Given the description of an element on the screen output the (x, y) to click on. 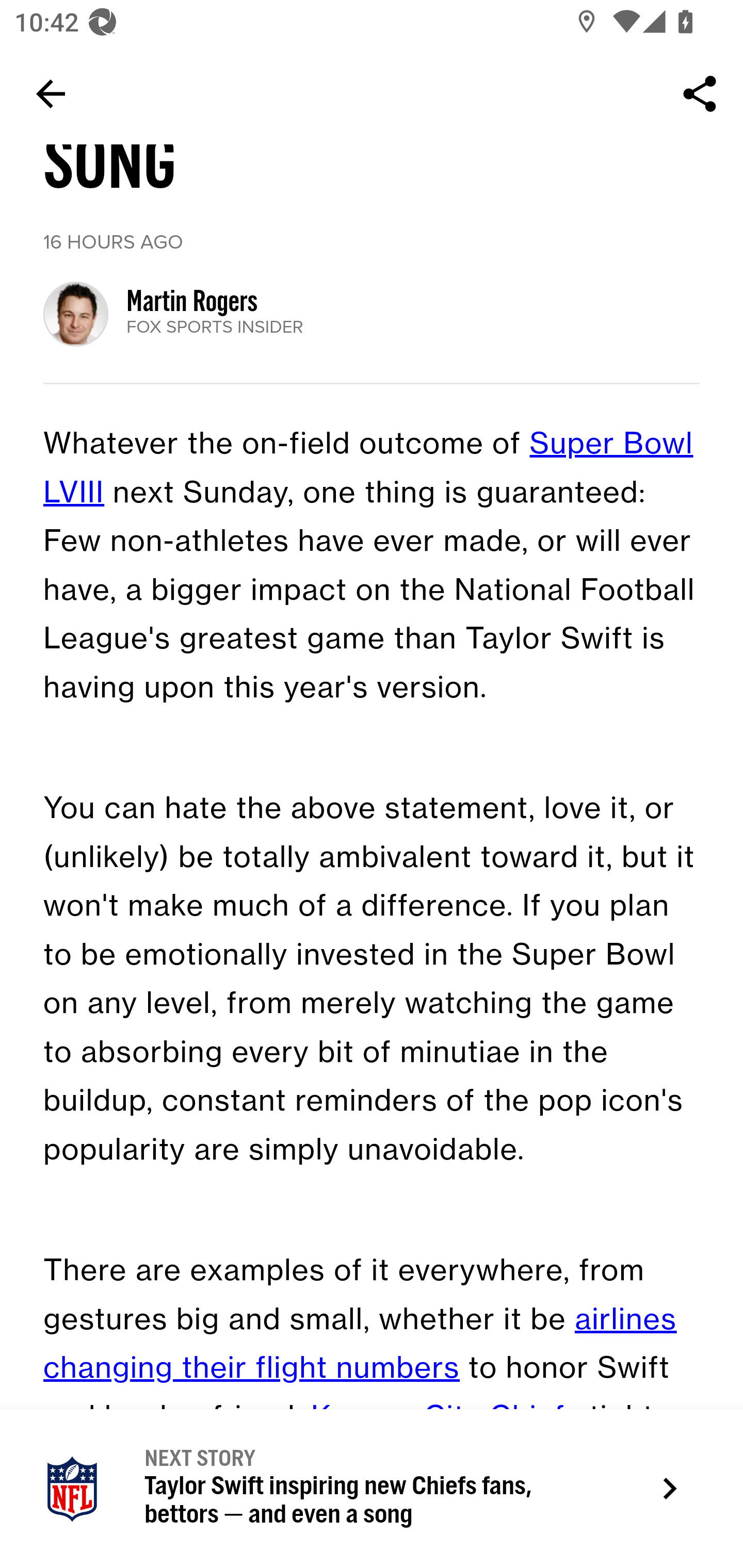
Navigate up (50, 93)
Share (699, 93)
Super Bowl LVIII (368, 468)
airlines changing their flight numbers (359, 1344)
Travis Kelce (190, 1465)
